Given the description of an element on the screen output the (x, y) to click on. 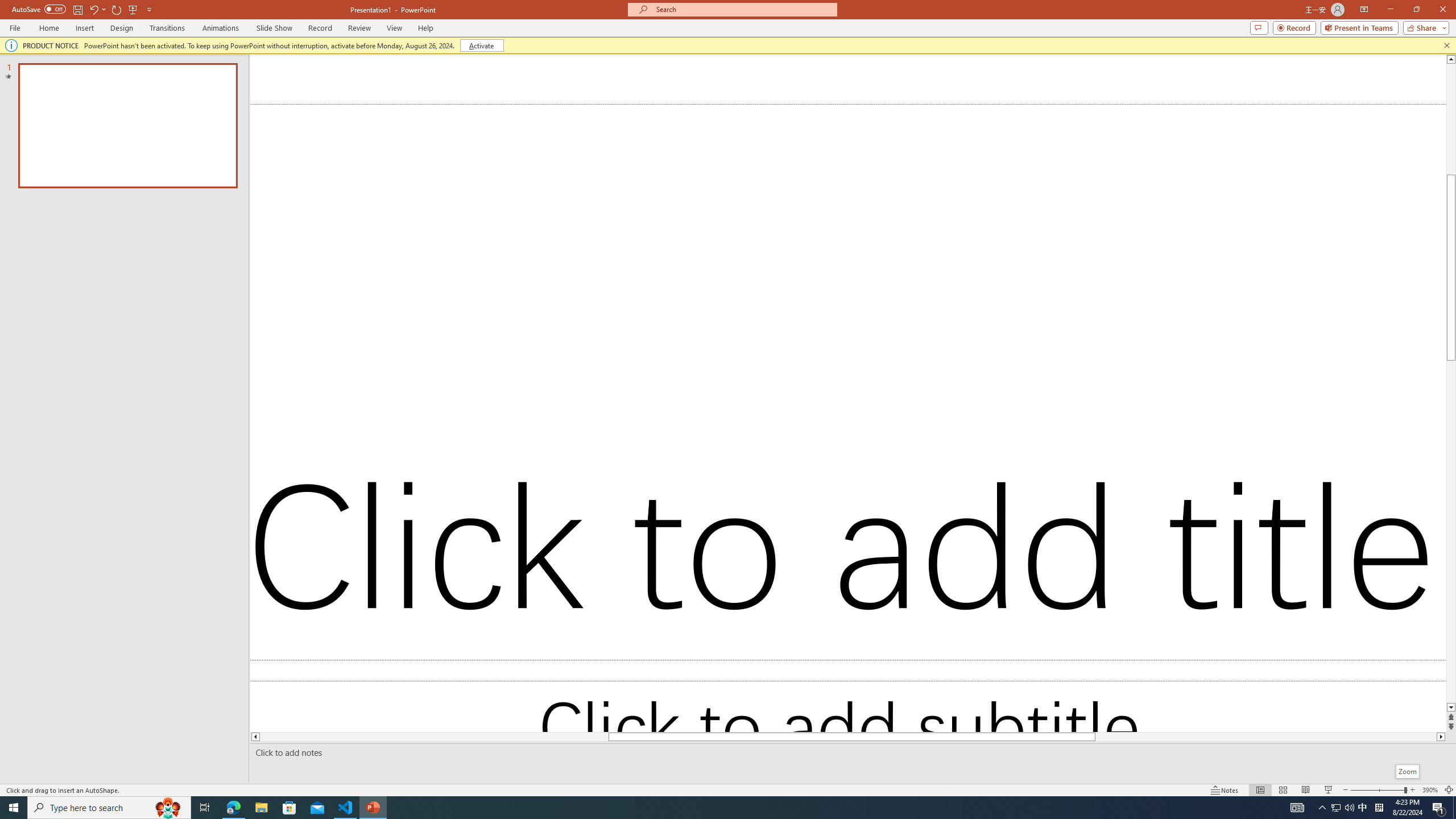
Close this message (1446, 45)
